Given the description of an element on the screen output the (x, y) to click on. 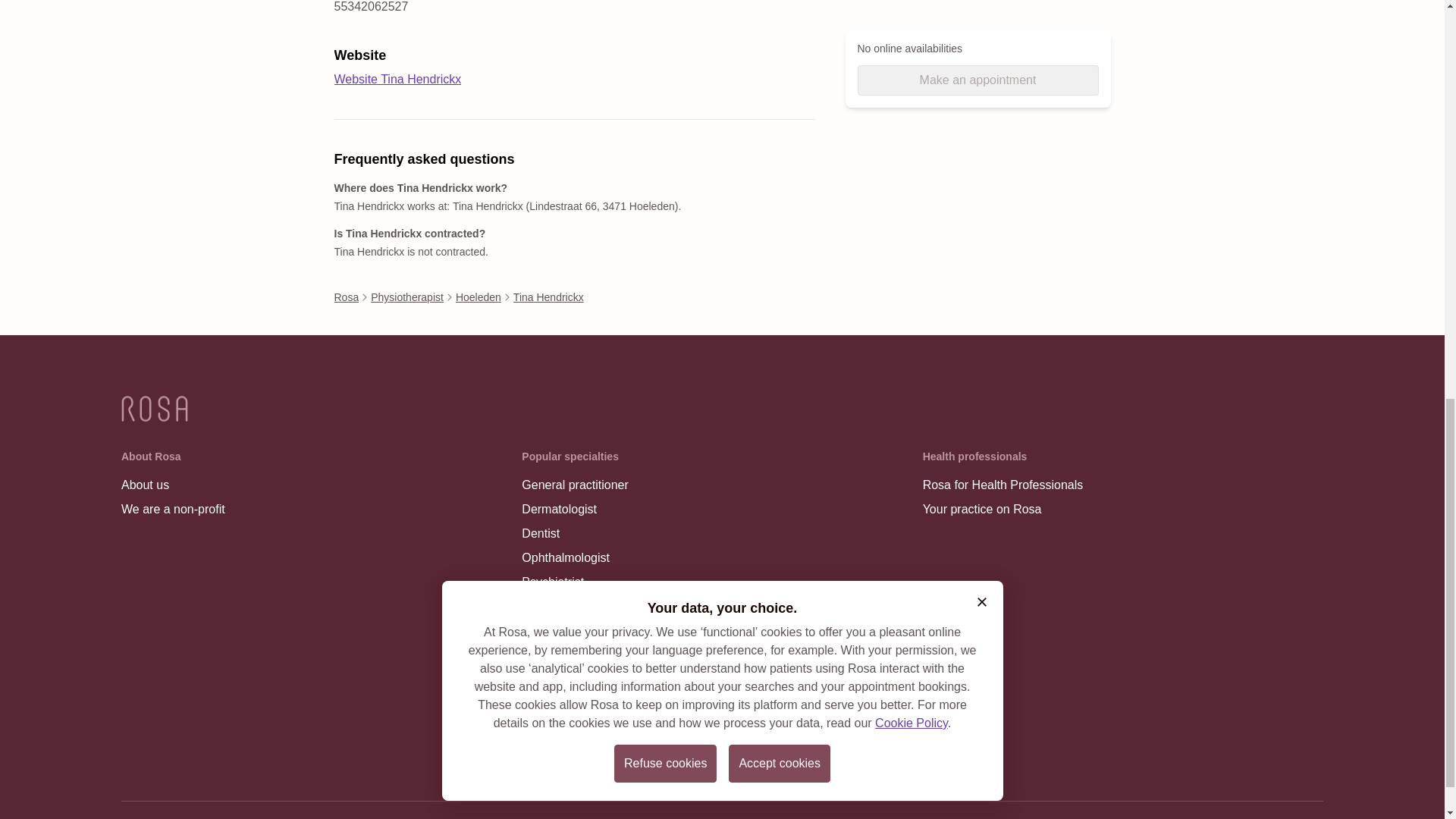
Physiotherapist (407, 296)
Dentist (575, 533)
Psychiatrist (575, 582)
Rosa (345, 296)
Hoeleden (477, 296)
Clinical psychologist (575, 606)
Website Tina Hendrickx (397, 79)
Tina Hendrickx (548, 296)
General practitioner (575, 485)
About us (172, 485)
Dermatologist (575, 509)
Ophthalmologist (575, 558)
We are a non-profit (172, 509)
Osteopath D.O (575, 654)
Physiotherapist (575, 630)
